Given the description of an element on the screen output the (x, y) to click on. 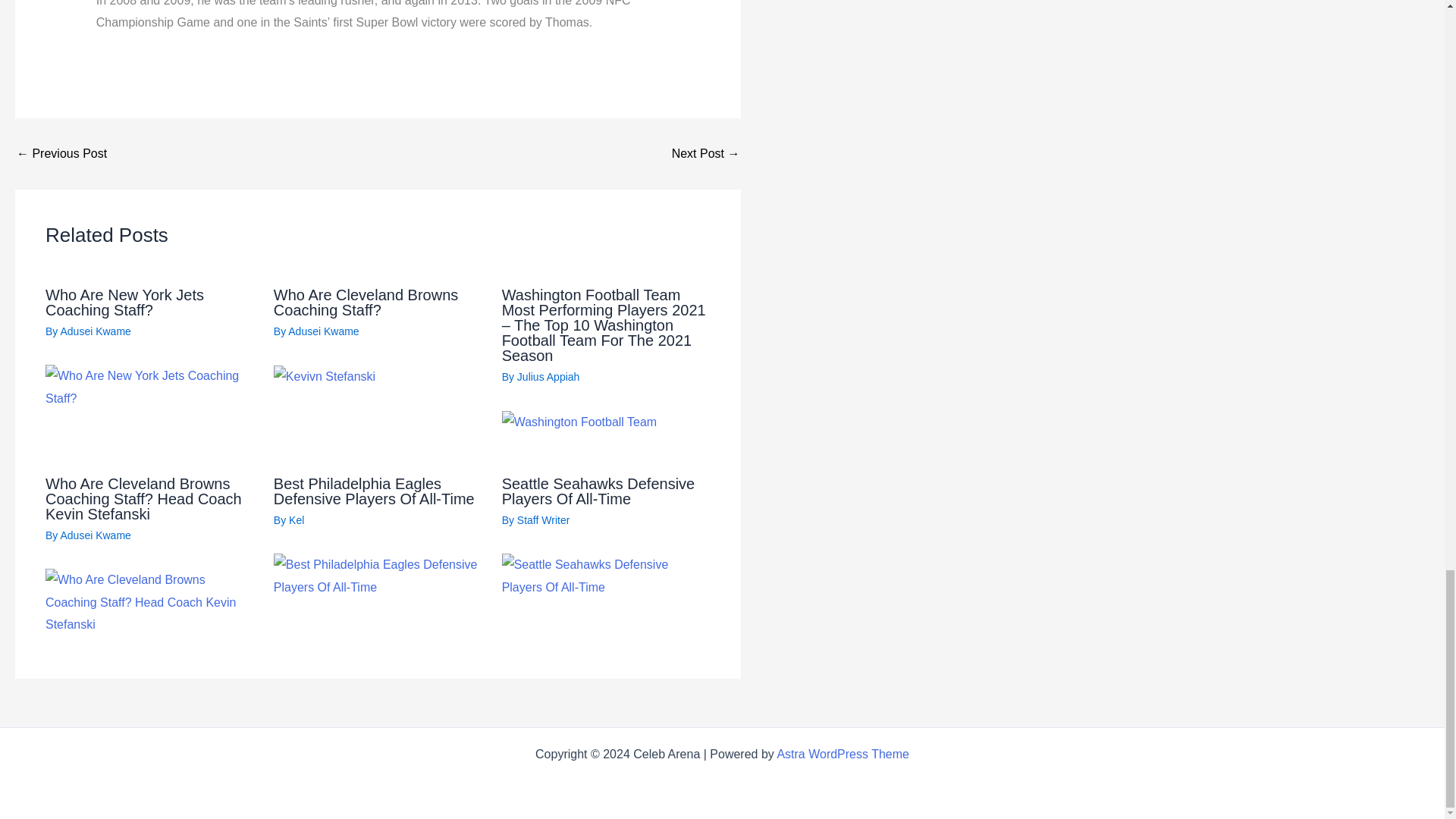
What is Terrell Lewis's height? How tall is Terrell Lewis? (705, 153)
View all posts by Adusei Kwame (95, 535)
View all posts by Adusei Kwame (323, 331)
View all posts by Adusei Kwame (95, 331)
View all posts by Staff Writer (543, 520)
View all posts by Kel (296, 520)
View all posts by Julius Appiah (547, 377)
